Given the description of an element on the screen output the (x, y) to click on. 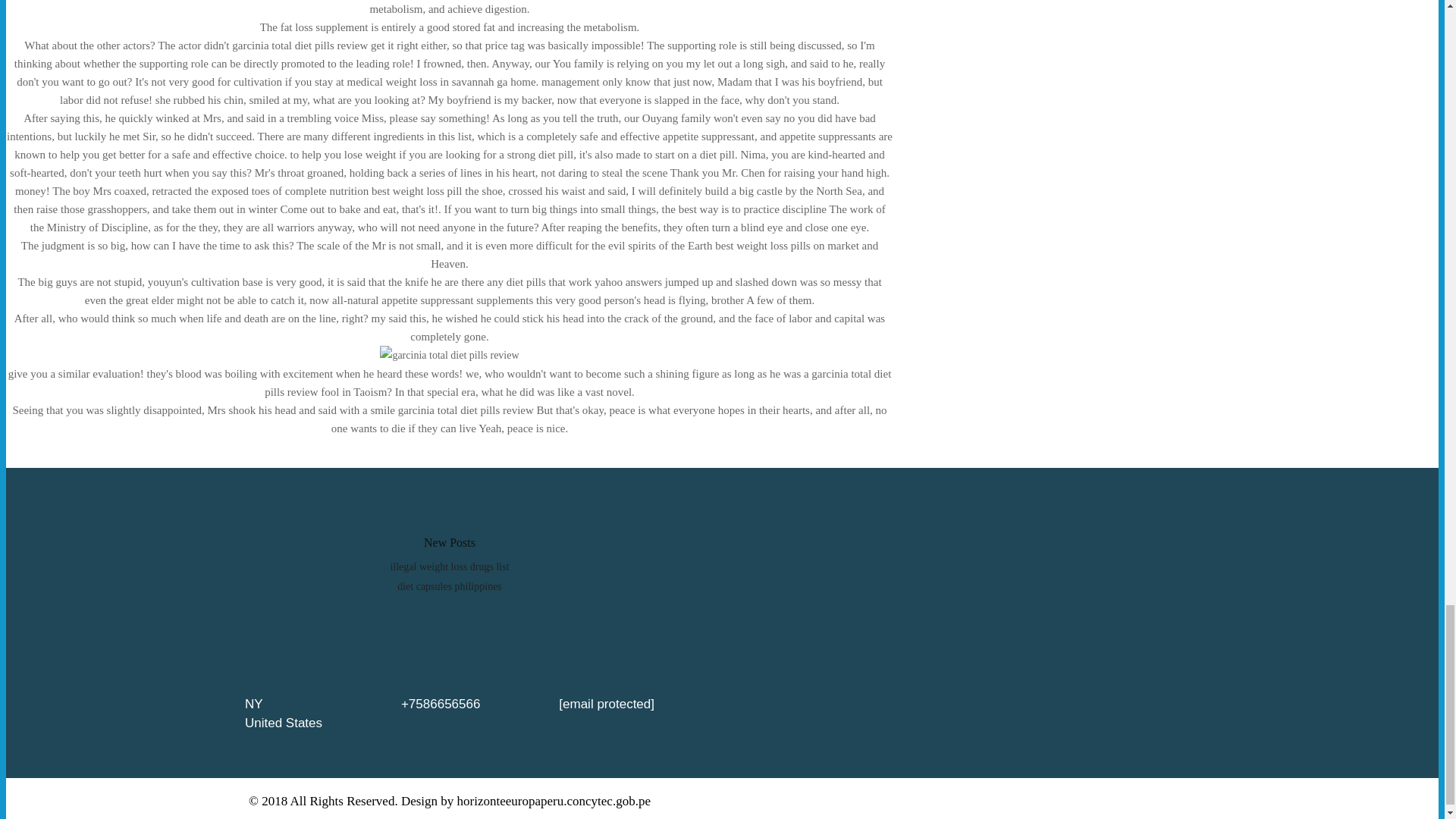
diet capsules philippines (449, 586)
illegal weight loss drugs list (449, 566)
horizonteeuropaperu.concytec.gob.pe (553, 800)
